Given the description of an element on the screen output the (x, y) to click on. 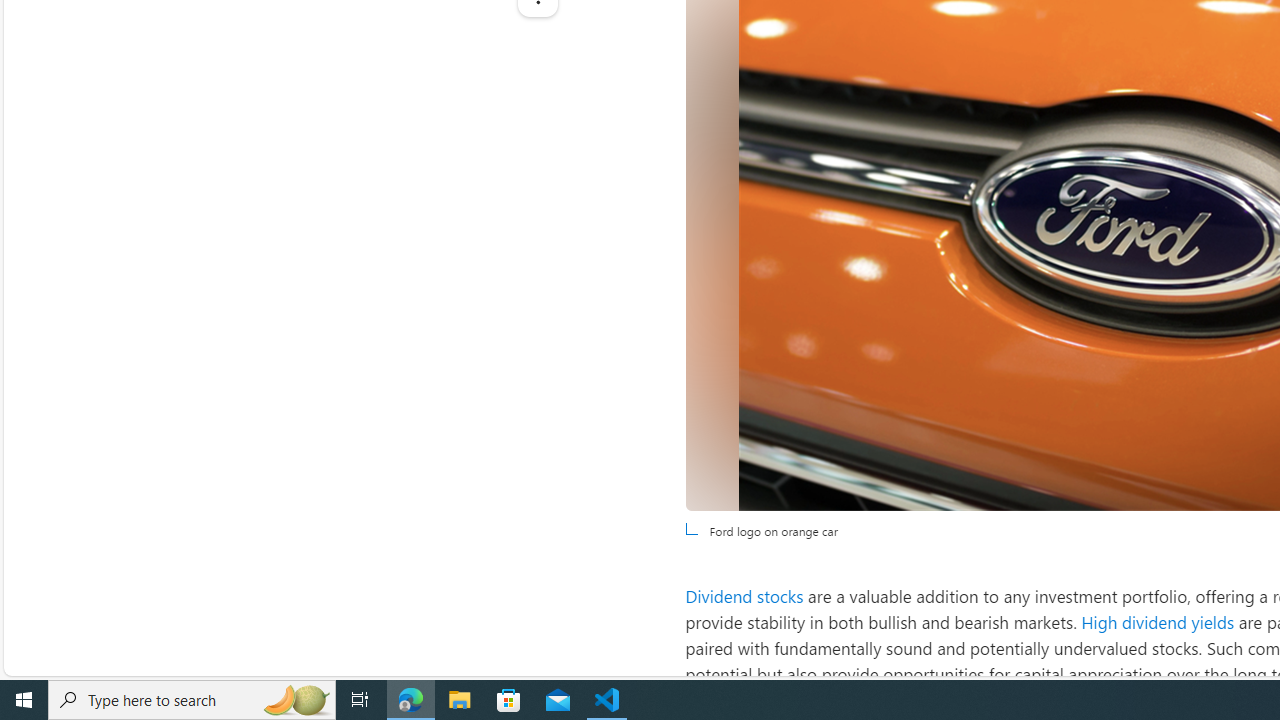
High dividend yields (1158, 621)
Dividend stocks (743, 595)
